Given the description of an element on the screen output the (x, y) to click on. 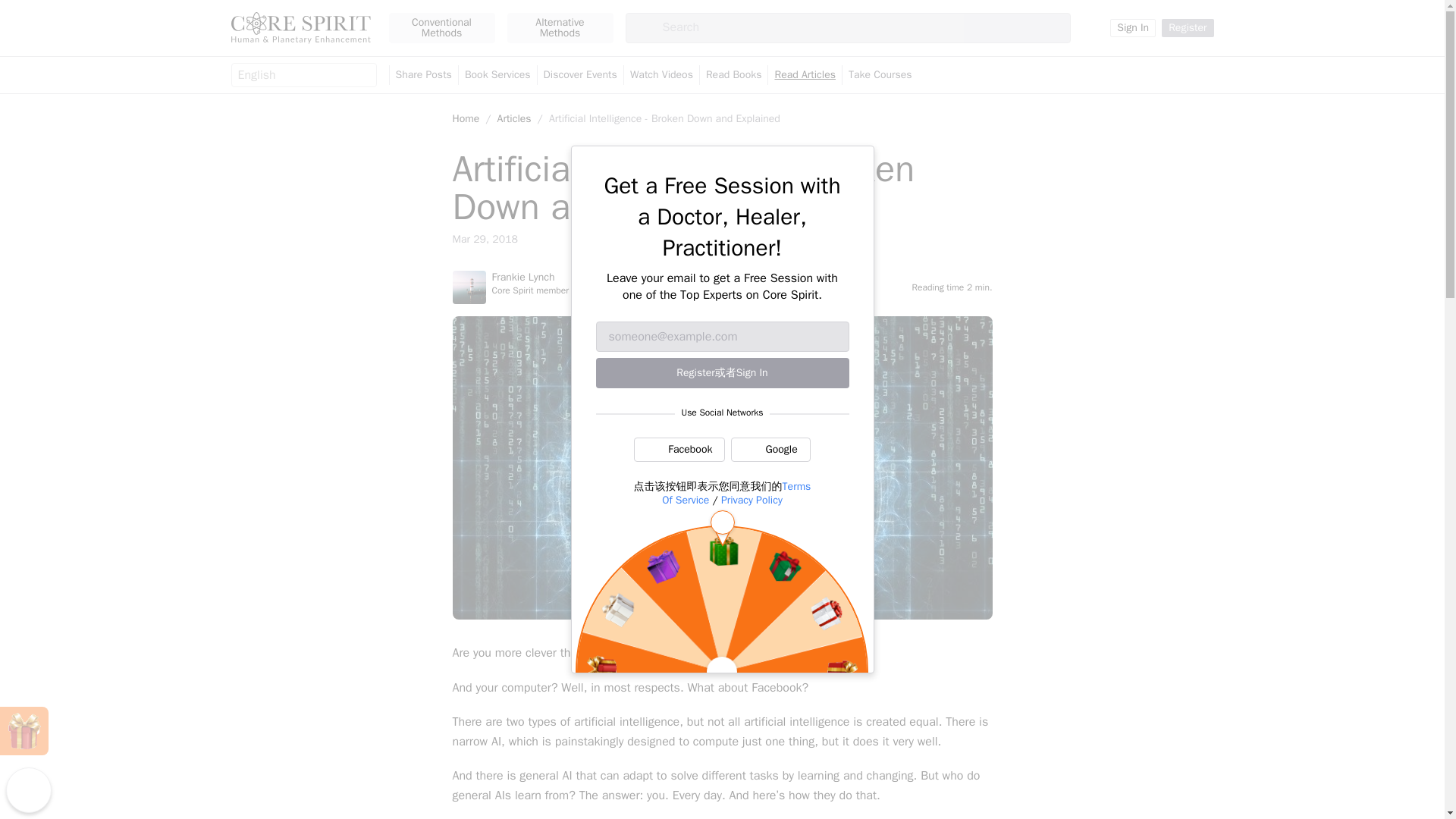
Book Services (497, 75)
Back to top (27, 790)
Register (1186, 27)
Conventional Methods (441, 28)
Sign In (1132, 27)
Alternative Methods (559, 28)
Share Posts (423, 75)
